Given the description of an element on the screen output the (x, y) to click on. 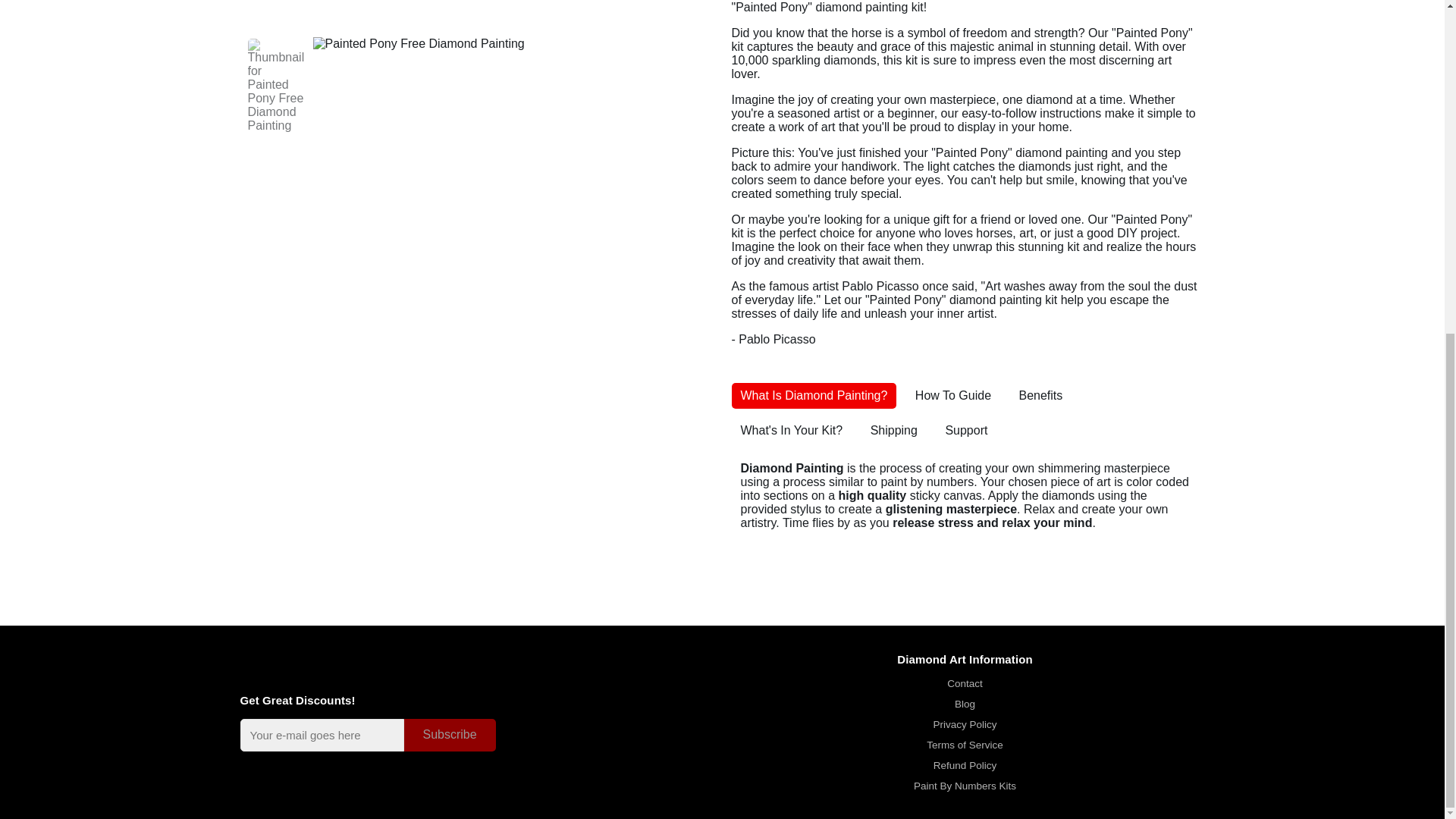
Blog (964, 704)
Terms of Service (964, 745)
Paint By Numbers Kits (964, 785)
Subscribe (449, 735)
Contact (964, 683)
Refund Policy (964, 765)
Privacy Policy (964, 724)
